Given the description of an element on the screen output the (x, y) to click on. 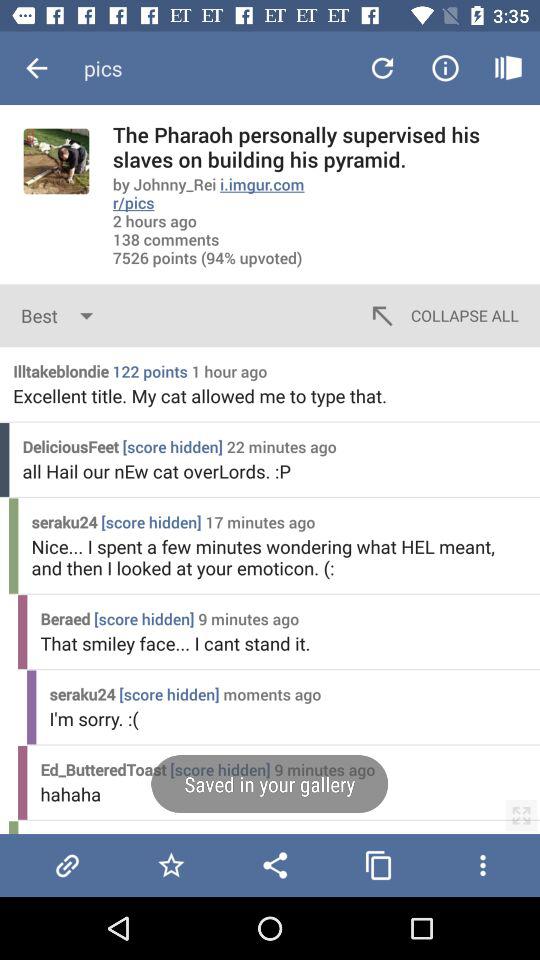
toggle view option (521, 815)
